Given the description of an element on the screen output the (x, y) to click on. 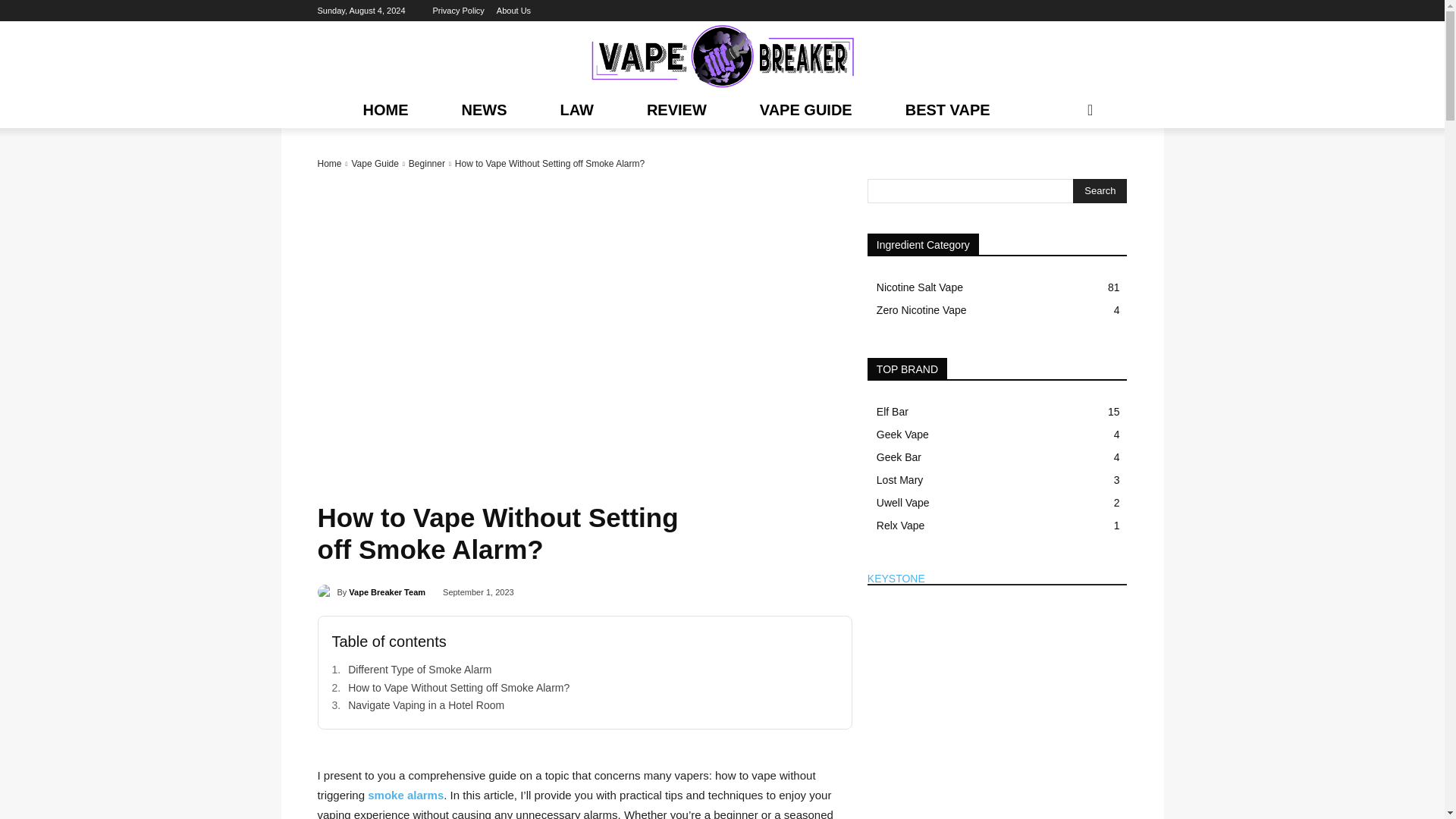
Privacy Policy (457, 10)
HOME (384, 109)
Vape Breaker (722, 56)
Vape Breaker (721, 56)
NEWS (482, 109)
About Us (513, 10)
